Given the description of an element on the screen output the (x, y) to click on. 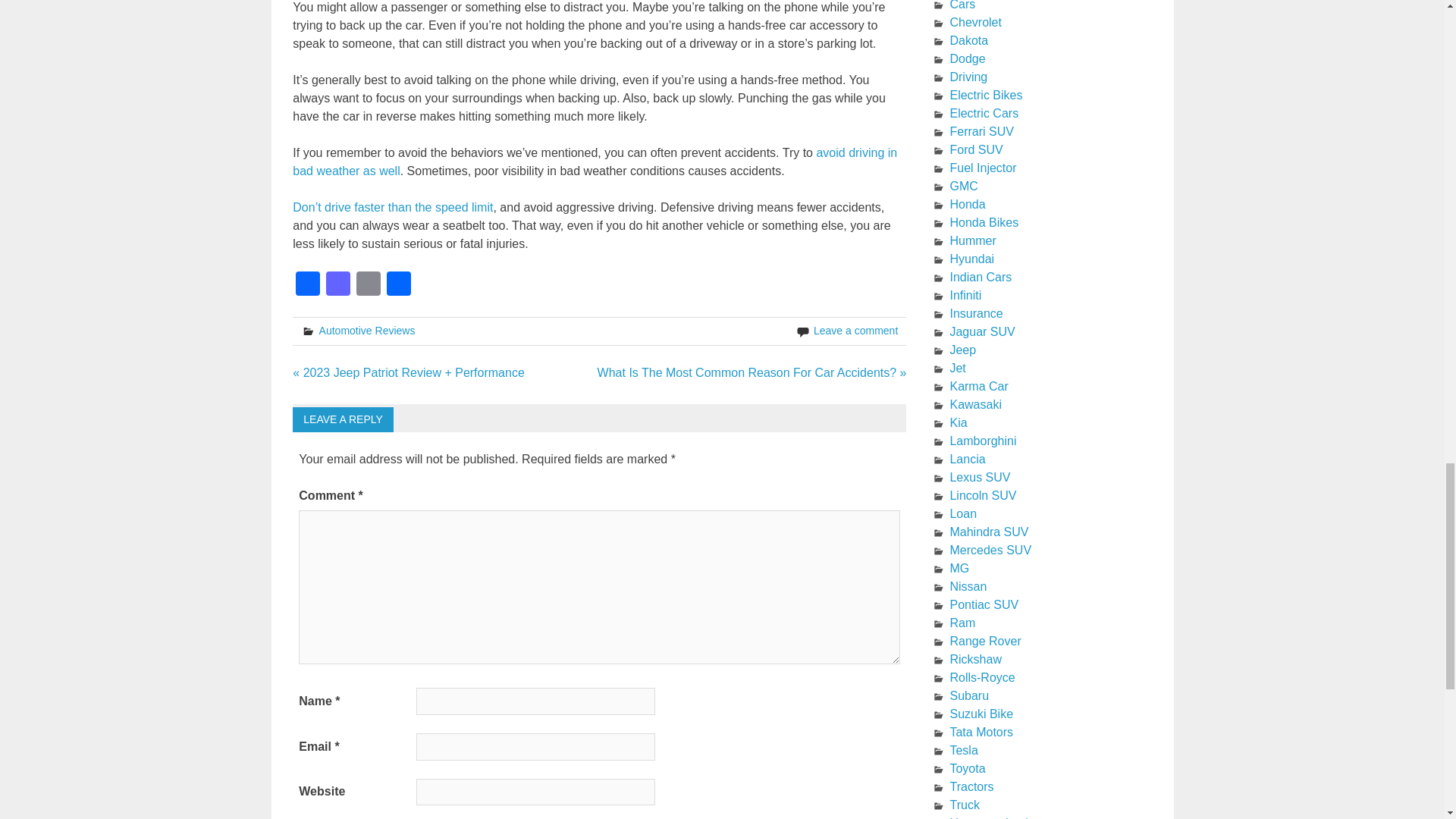
 avoid driving in bad weather as well (594, 161)
Automotive Reviews (366, 330)
Facebook (307, 285)
Mastodon (338, 285)
Leave a comment (855, 330)
Mastodon (338, 285)
Email (368, 285)
Email (368, 285)
Facebook (307, 285)
